Given the description of an element on the screen output the (x, y) to click on. 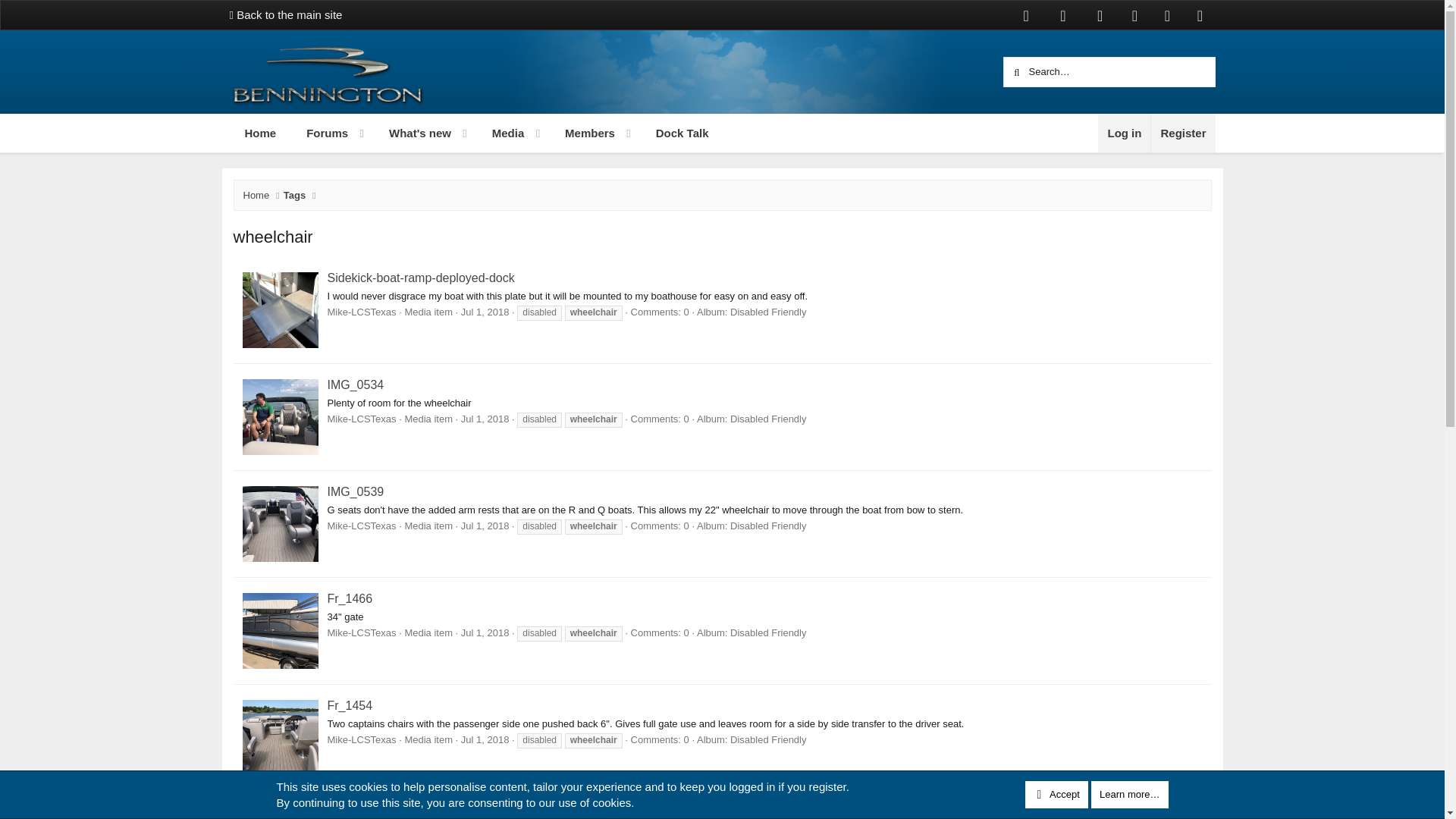
Instagram (1134, 14)
Register (1182, 132)
Jul 1, 2018 at 12:16 AM (485, 525)
Back to the main site (285, 14)
Home (475, 149)
RSS (259, 132)
Log in (1199, 14)
Jul 1, 2018 at 12:17 AM (1123, 132)
Jul 1, 2018 at 12:20 AM (485, 419)
